Given the description of an element on the screen output the (x, y) to click on. 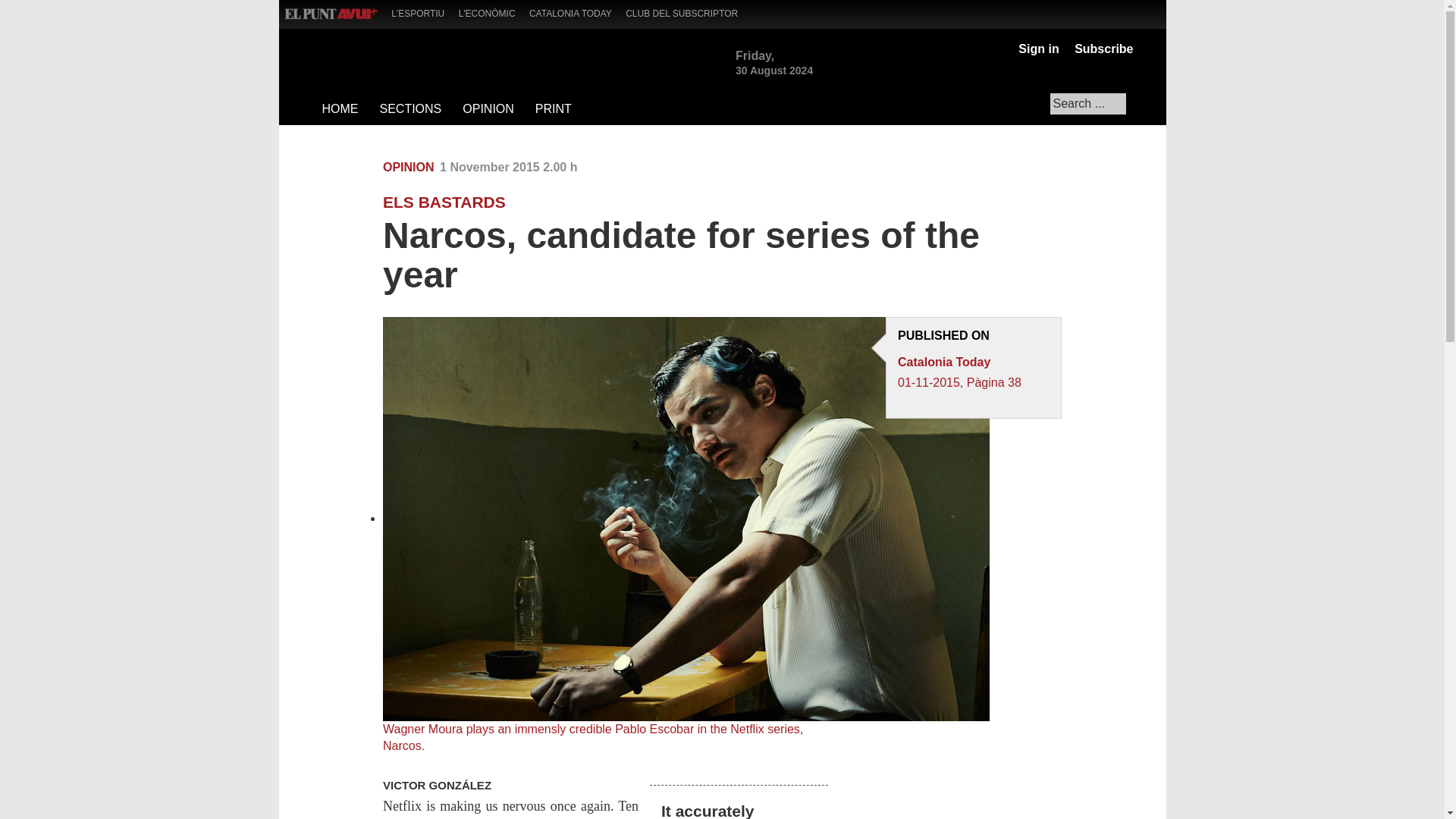
CATALONIA TODAY (576, 12)
Search ... (1087, 103)
PRINT (552, 109)
El Punt Avui (330, 13)
CLUB DEL SUBSCRIPTOR (687, 12)
Subscribe (1099, 48)
OPINION (487, 109)
Sign in (1037, 49)
Print (1051, 167)
